Given the description of an element on the screen output the (x, y) to click on. 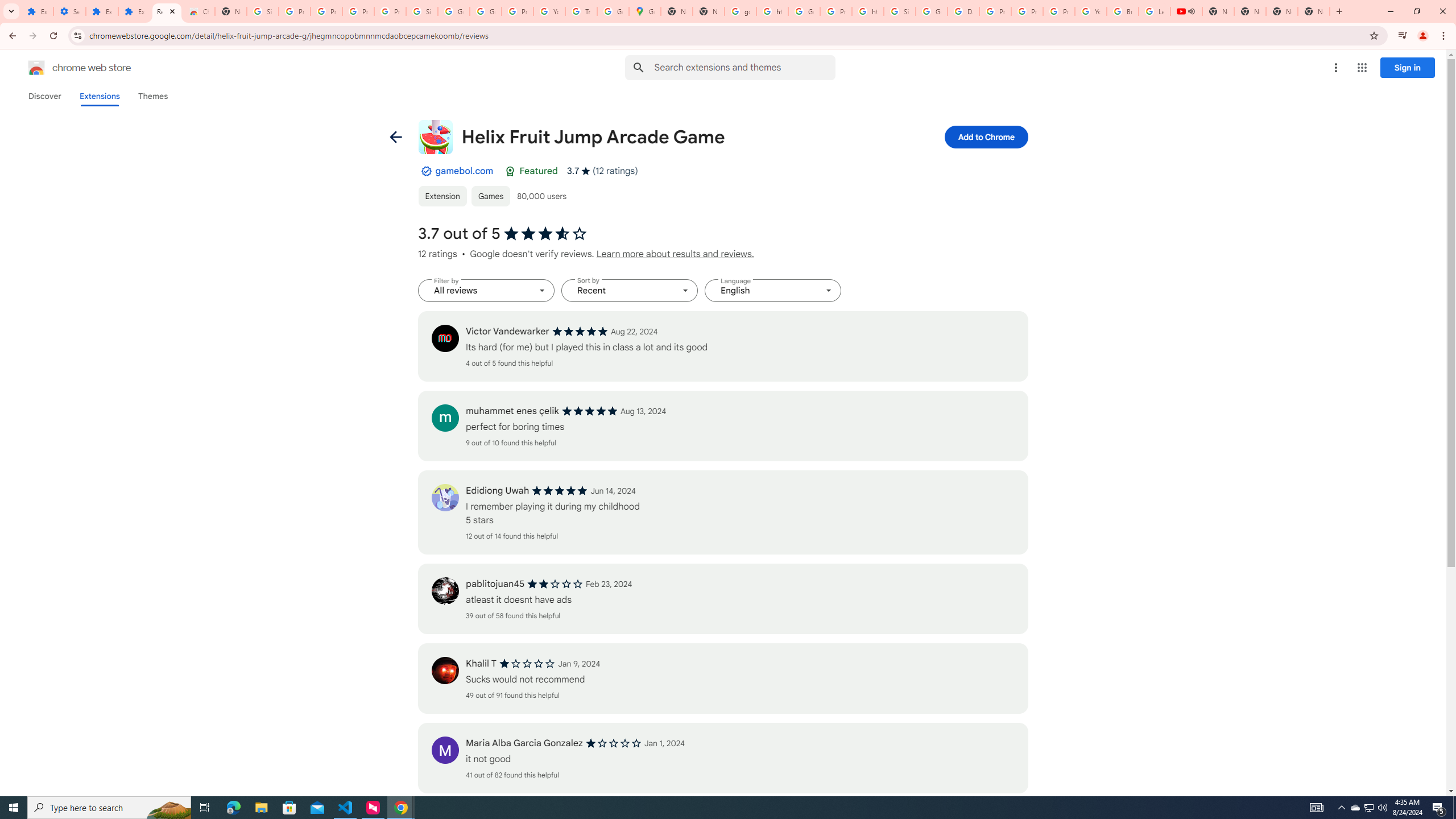
Themes (152, 95)
Extensions (101, 11)
Sort by Recent (629, 290)
2 out of 5 stars (555, 584)
Privacy Help Center - Policies Help (995, 11)
Filter by All reviews (485, 290)
